Given the description of an element on the screen output the (x, y) to click on. 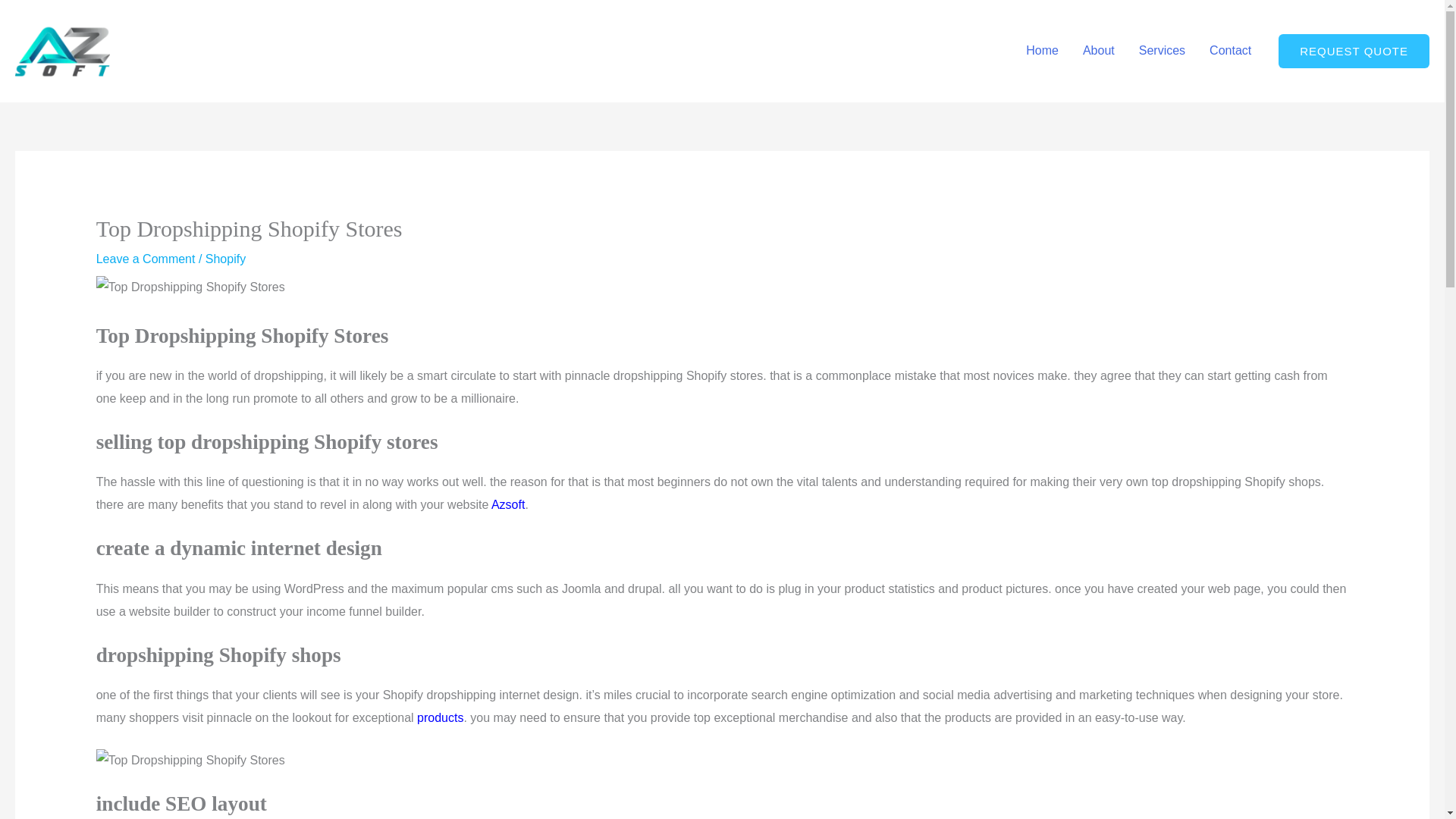
Azsoft (508, 504)
Contact (1229, 50)
About (1098, 50)
Leave a Comment (145, 258)
Shopify (225, 258)
Home (1041, 50)
REQUEST QUOTE (1353, 50)
products (439, 717)
Services (1161, 50)
